Given the description of an element on the screen output the (x, y) to click on. 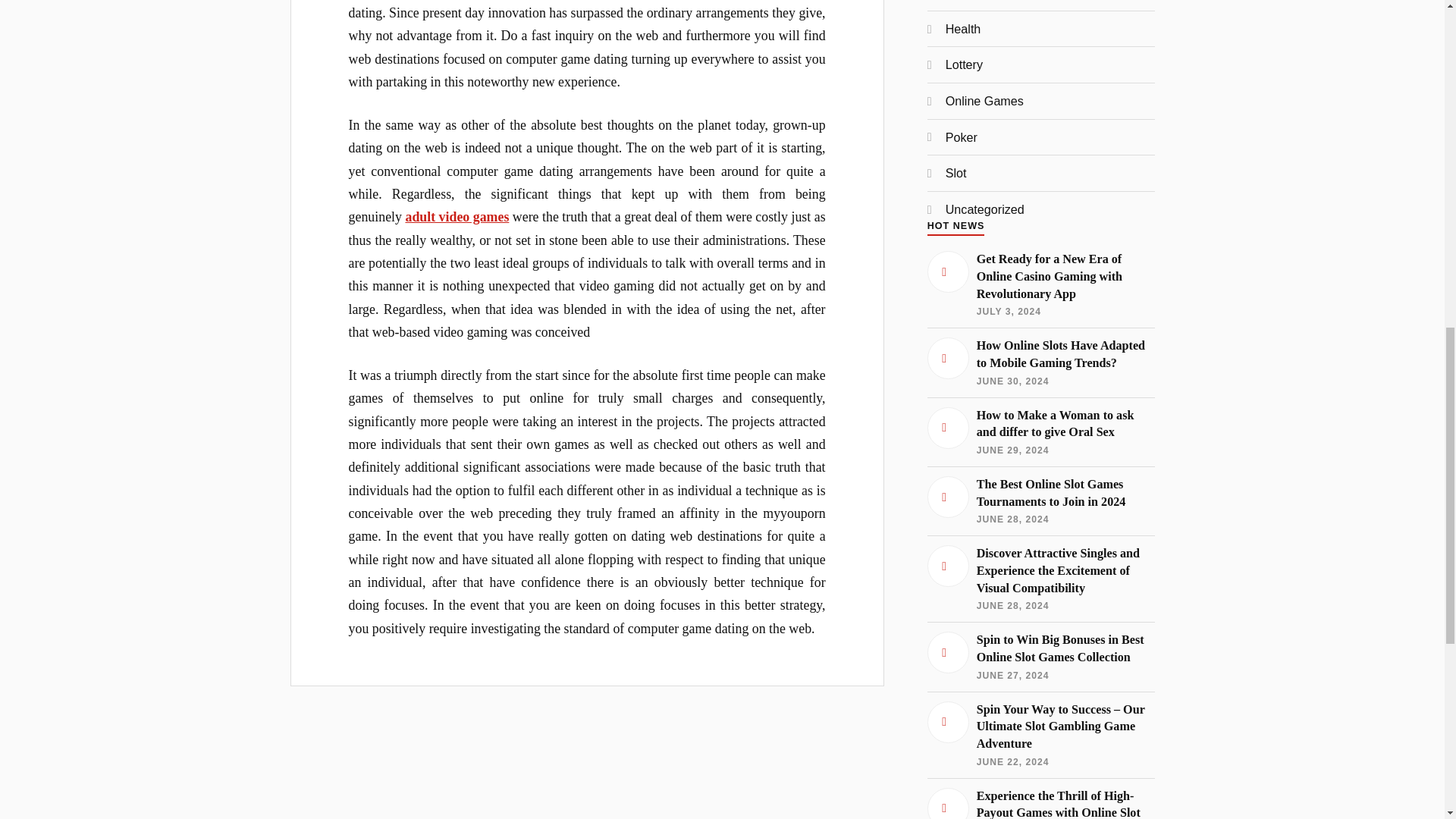
Health (962, 29)
Lottery (963, 64)
Uncategorized (984, 209)
Poker (960, 137)
Online Games (983, 100)
Slot (955, 172)
adult video games (456, 216)
